Given the description of an element on the screen output the (x, y) to click on. 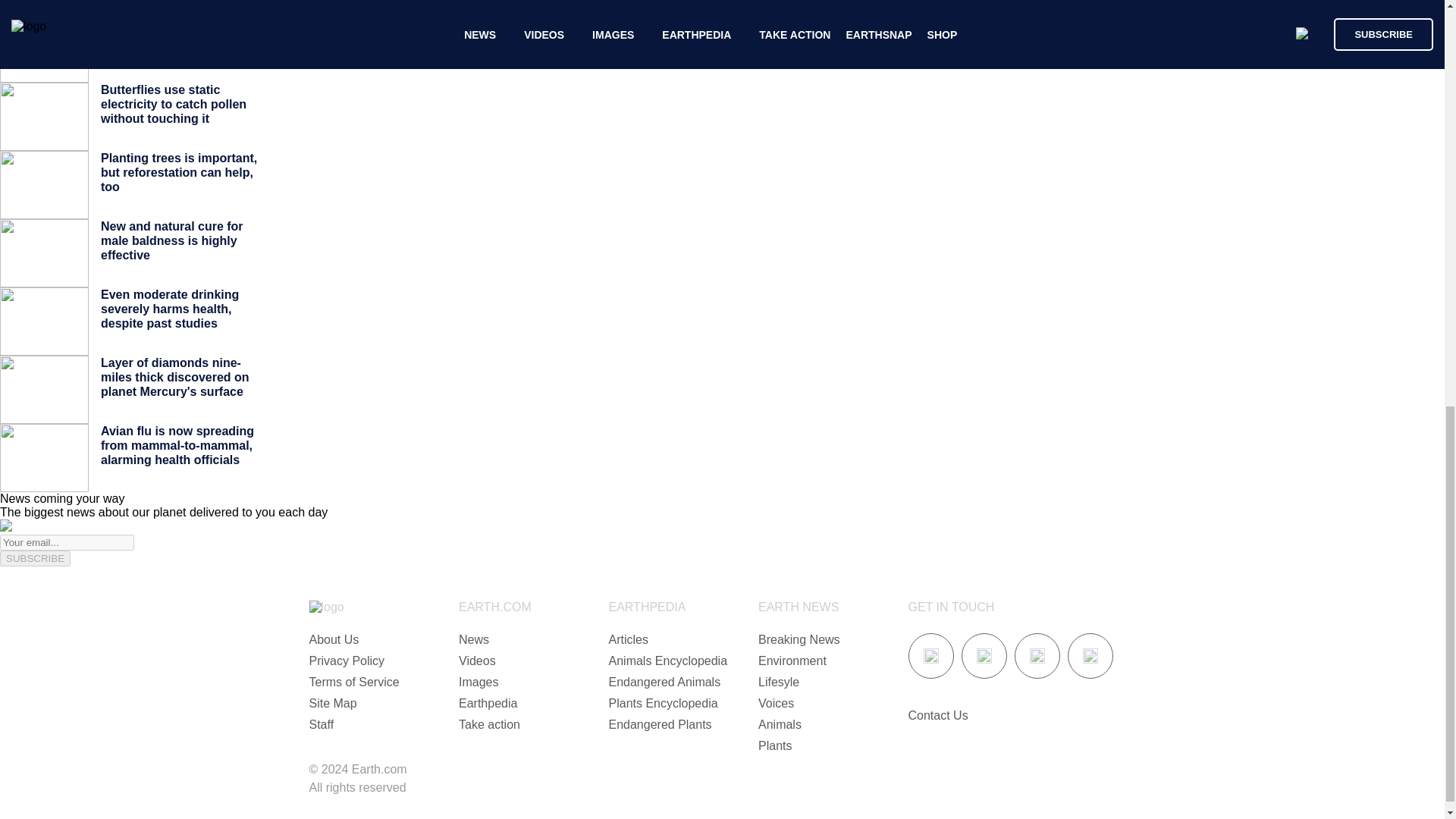
Planting trees is important, but reforestation can help, too (178, 172)
Privacy Policy (346, 660)
New and natural cure for male baldness is highly effective (171, 240)
Terms of Service (353, 681)
About Us (333, 639)
SUBSCRIBE (34, 558)
